Given the description of an element on the screen output the (x, y) to click on. 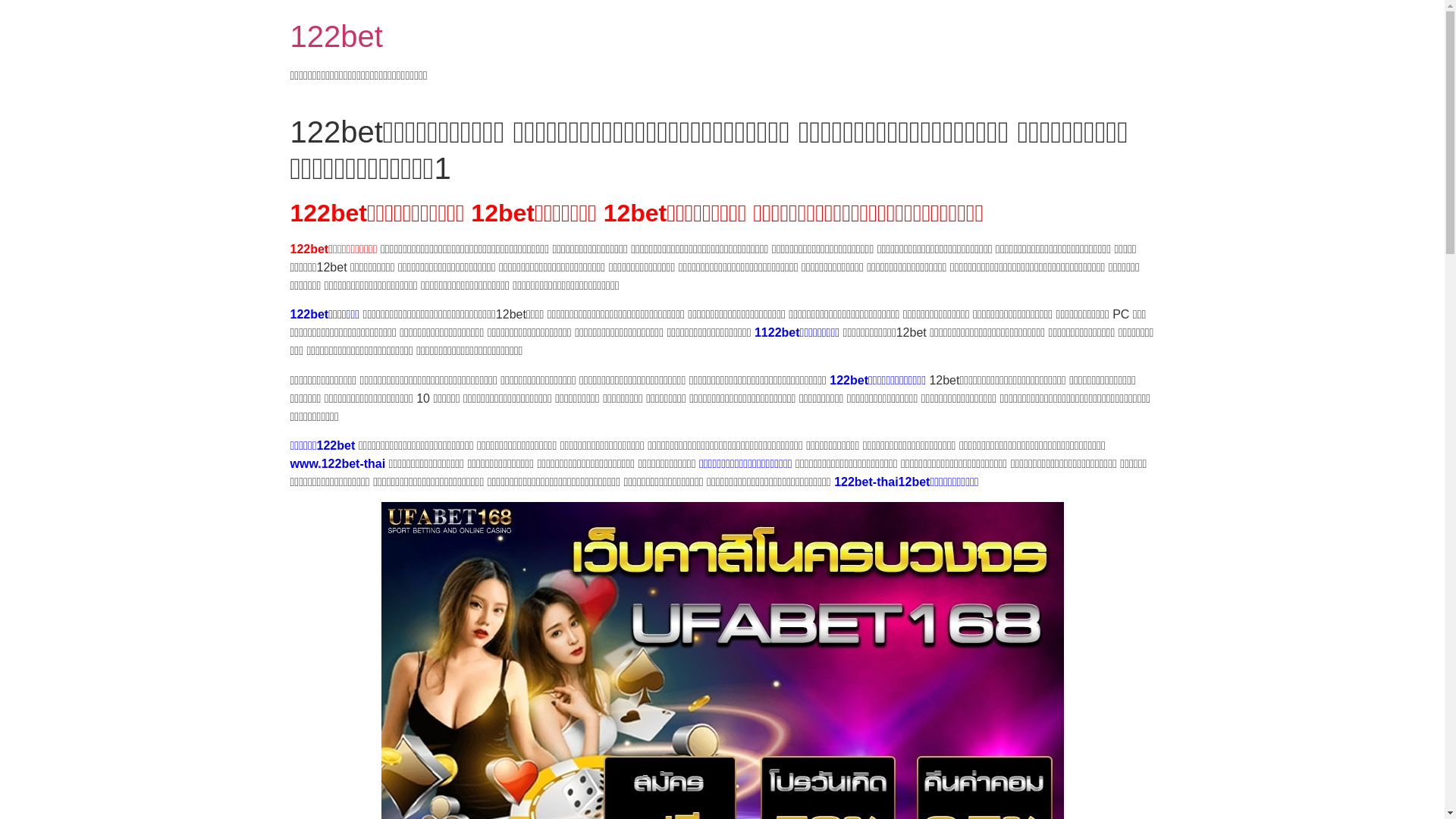
122bet Element type: text (335, 36)
